Given the description of an element on the screen output the (x, y) to click on. 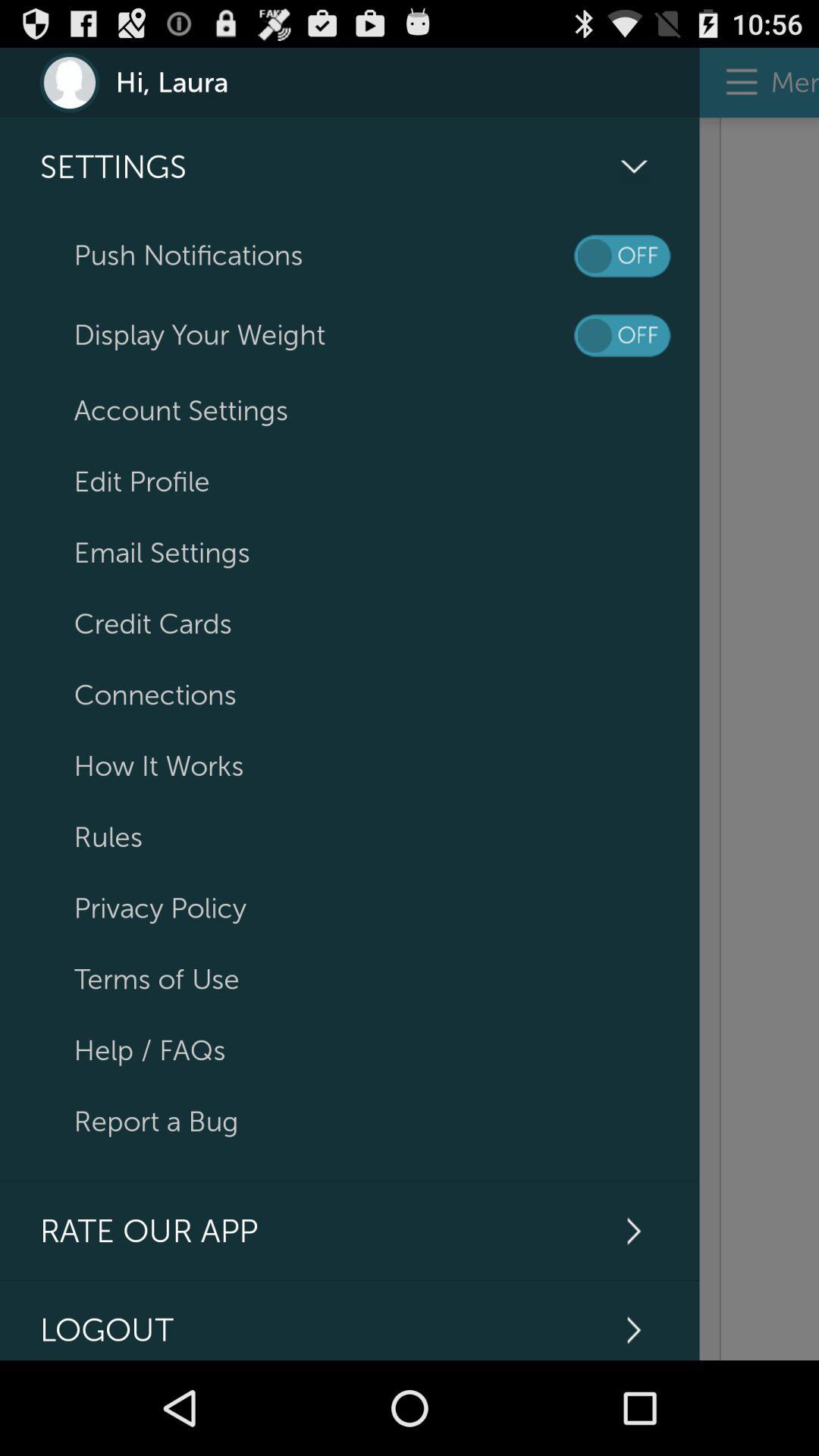
toggle display your weight on (622, 335)
